Given the description of an element on the screen output the (x, y) to click on. 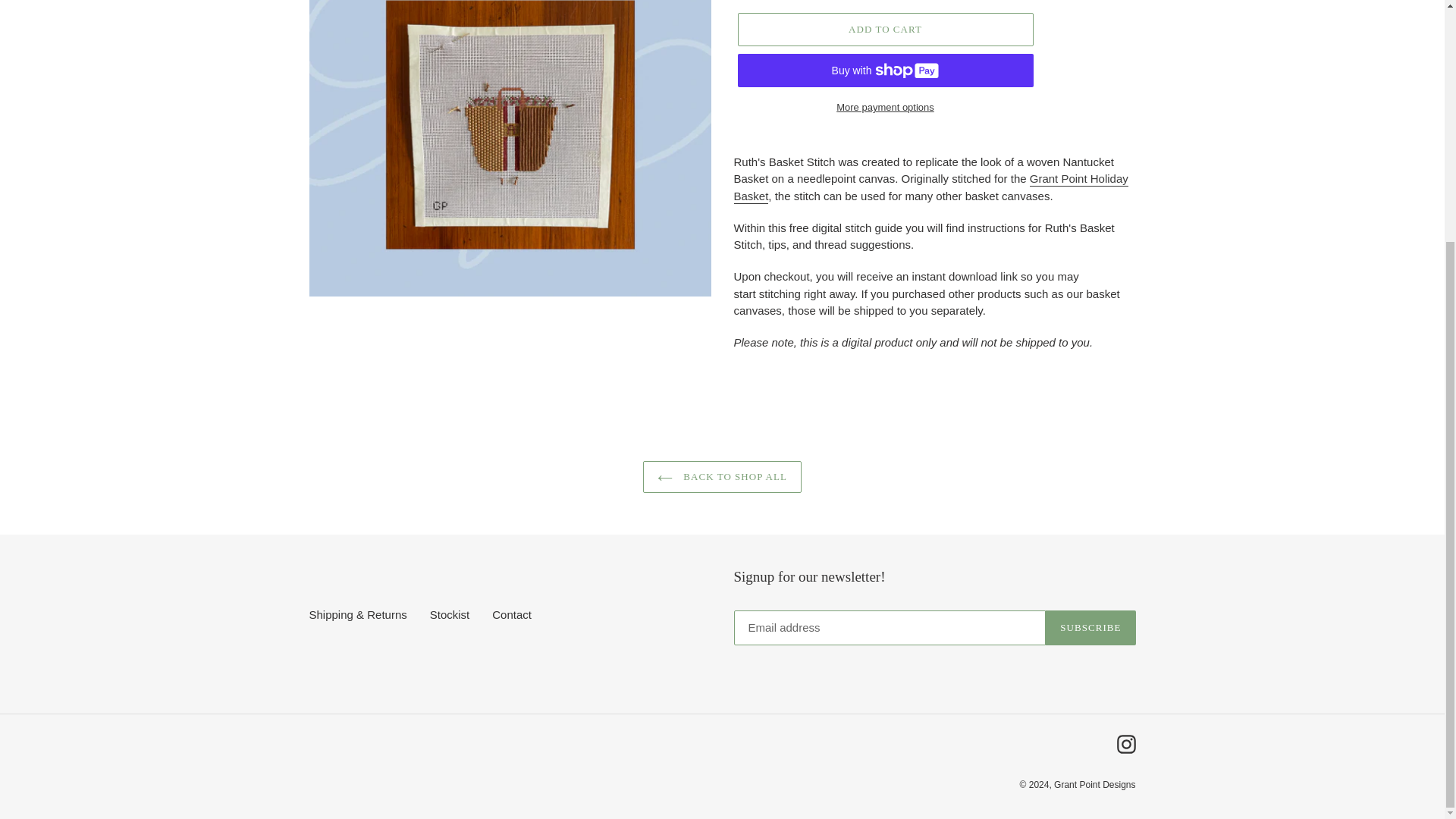
More payment options (884, 107)
Grant Point Holiday Basket (930, 187)
BACK TO SHOP ALL (722, 477)
SUBSCRIBE (1090, 627)
Instagram (1125, 743)
Grant Point Designs (1094, 784)
Stockist (449, 614)
Contact (511, 614)
ADD TO CART (884, 29)
